Given the description of an element on the screen output the (x, y) to click on. 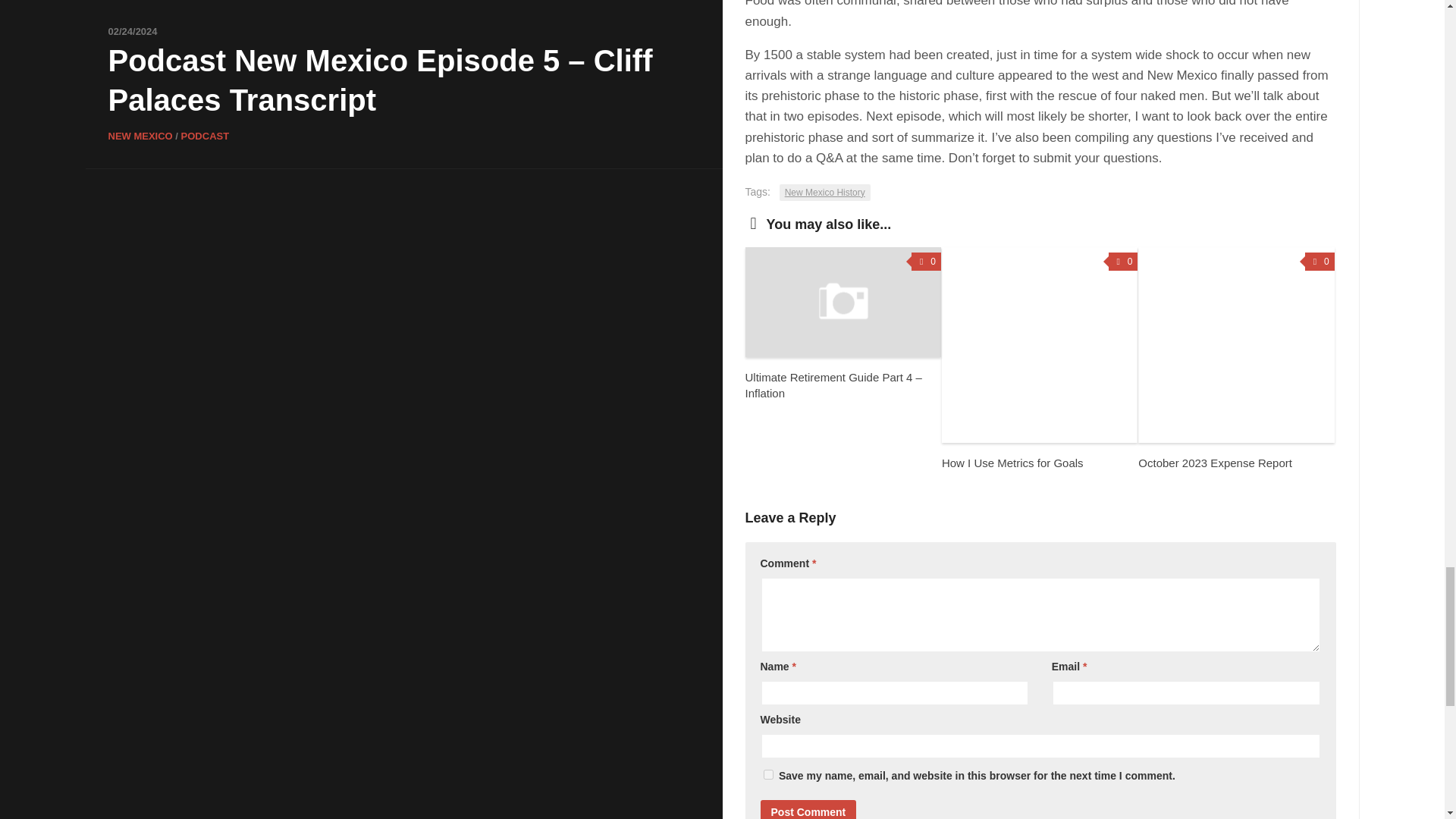
Post Comment (808, 809)
yes (767, 774)
October 2023 Expense Report (1215, 462)
New Mexico History (824, 192)
0 (925, 261)
0 (1123, 261)
0 (1319, 261)
How I Use Metrics for Goals (1012, 462)
Post Comment (808, 809)
